Given the description of an element on the screen output the (x, y) to click on. 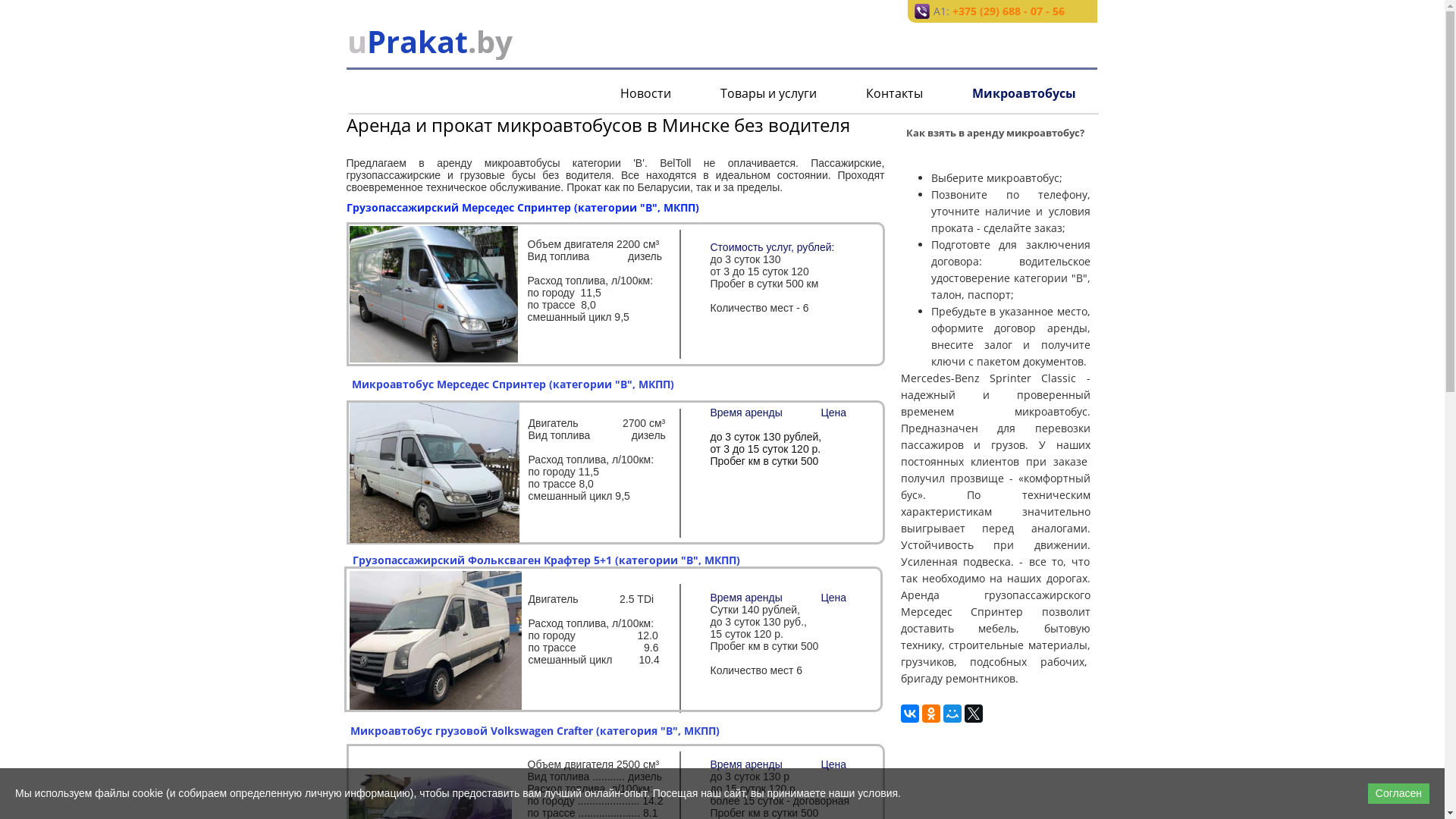
+375 (29) 688 - 07 - 56 Element type: text (1008, 10)
Twitter Element type: hover (973, 713)
